Given the description of an element on the screen output the (x, y) to click on. 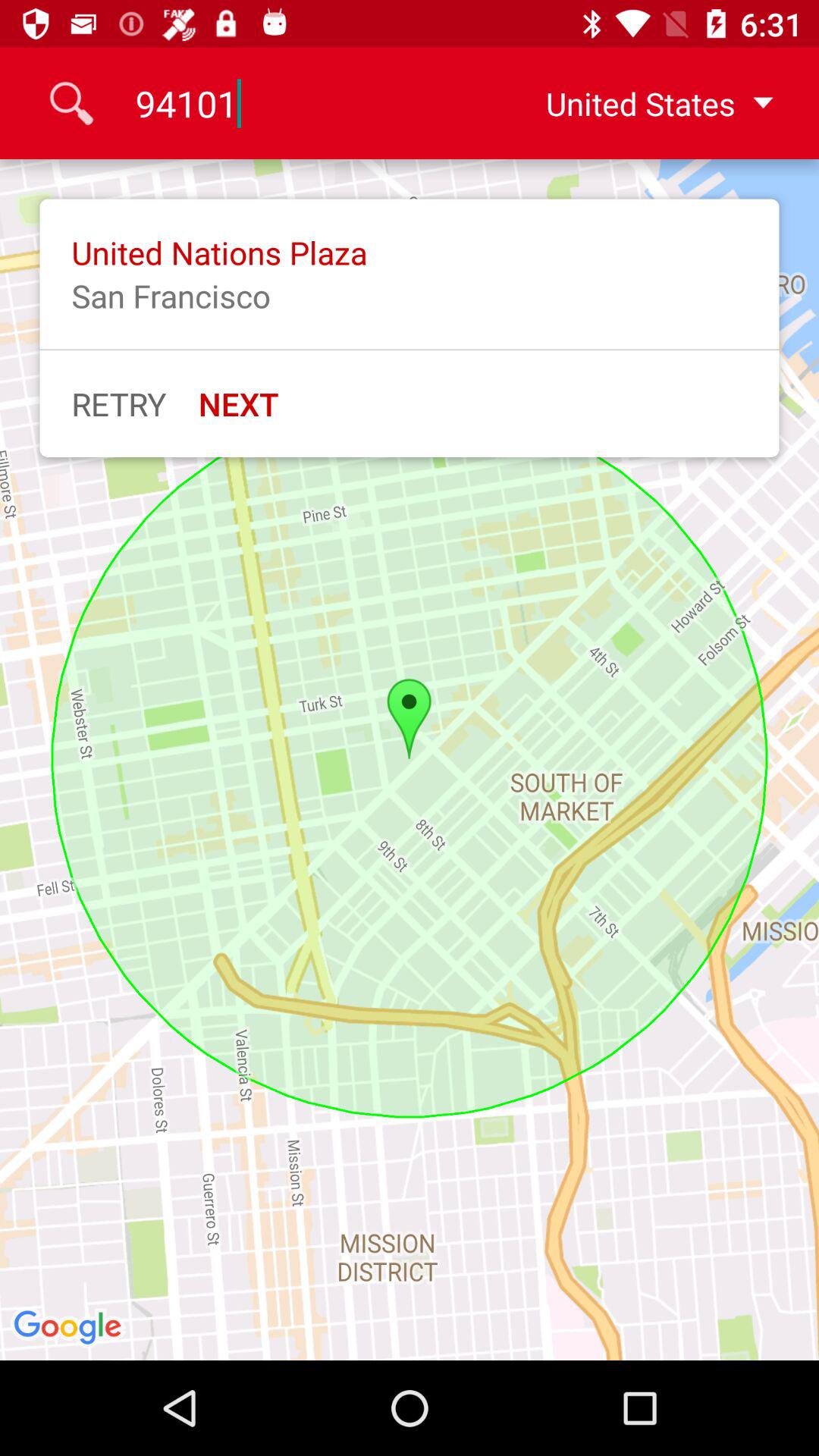
tap the 94101 (309, 103)
